Given the description of an element on the screen output the (x, y) to click on. 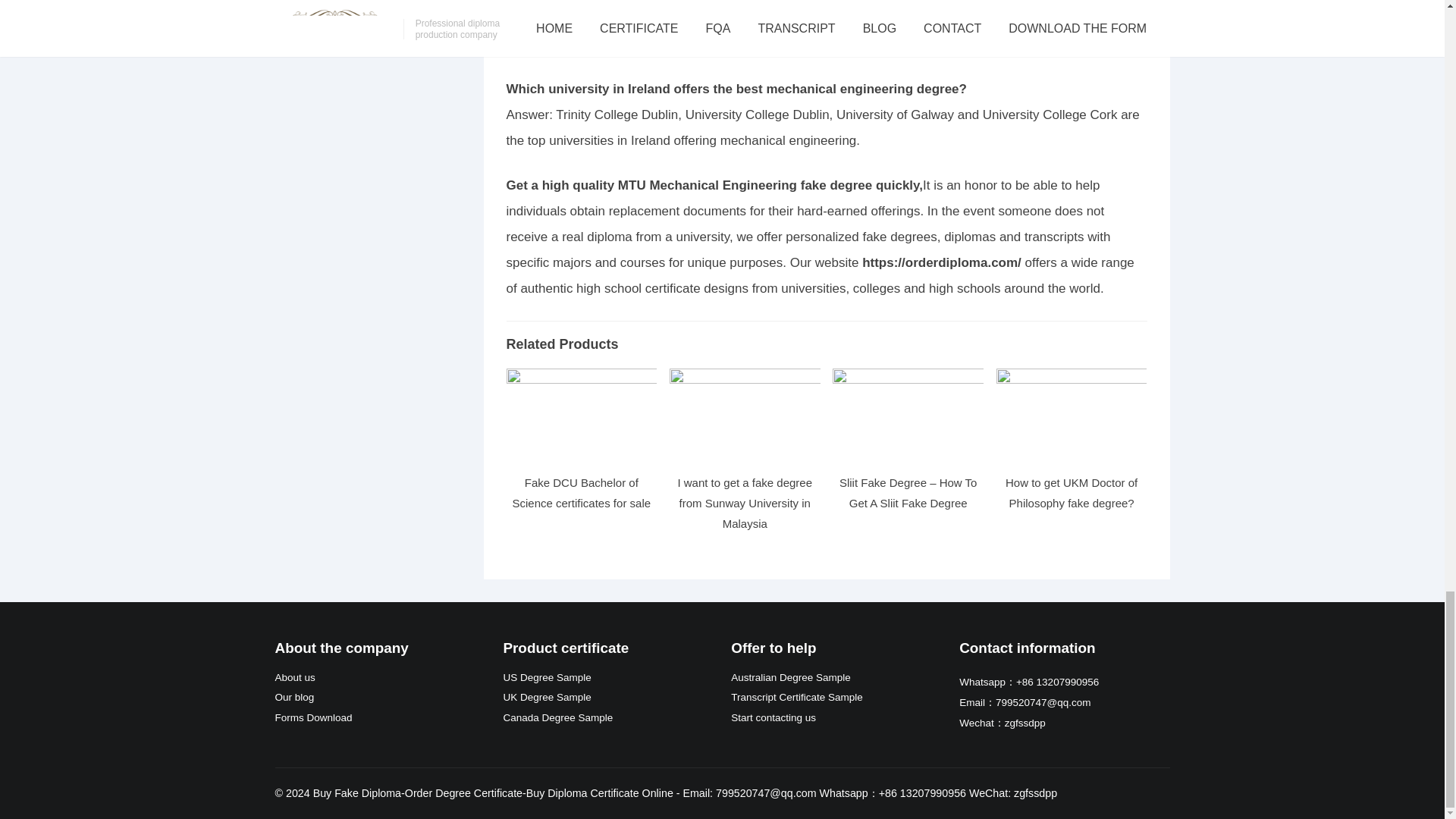
How to get UKM Doctor of Philosophy fake degree? (1071, 492)
Forms Download (313, 717)
UK Degree Sample (546, 696)
US Degree Sample (546, 677)
Our blog (294, 696)
